Given the description of an element on the screen output the (x, y) to click on. 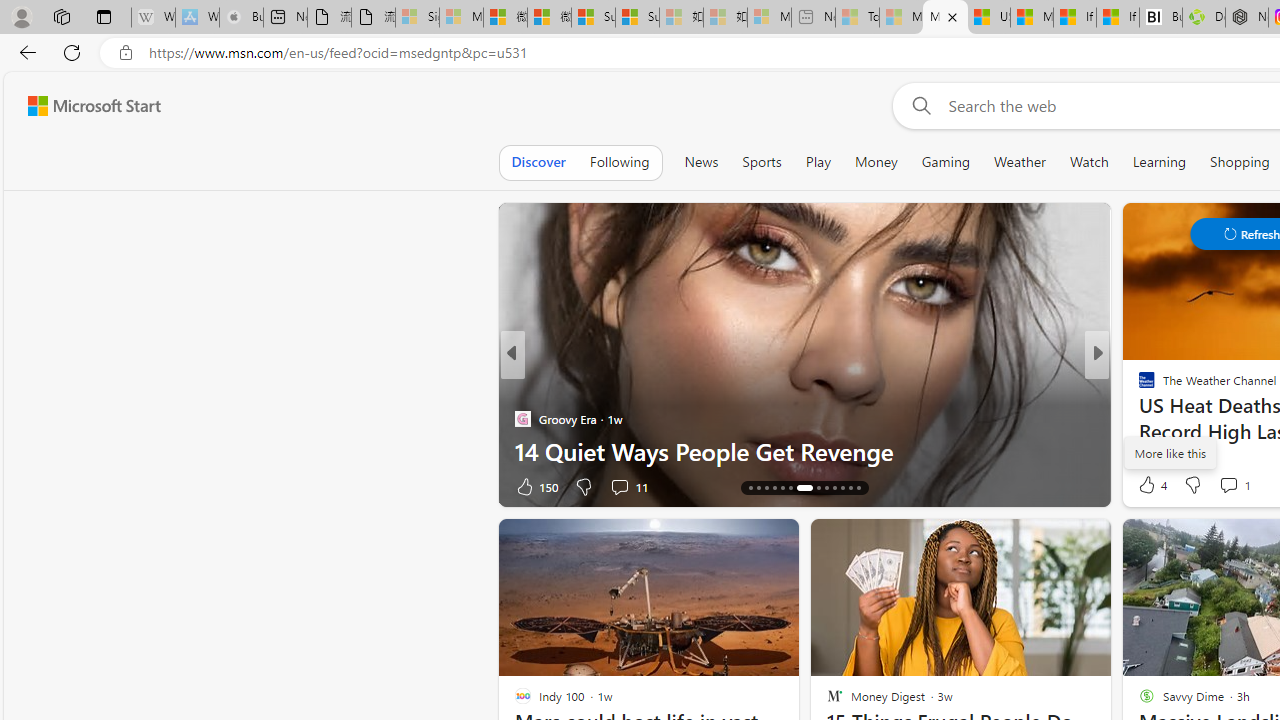
311 Like (1151, 486)
View comments 1 Comment (1234, 484)
The Cool Down (1138, 386)
Groovy Era (522, 418)
Wikipedia - Sleeping (153, 17)
View comments 35 Comment (1244, 486)
123 Like (1151, 486)
AutomationID: tab-24 (842, 487)
Close tab (952, 16)
Tab actions menu (104, 16)
Watch (1089, 162)
News (701, 161)
